Given the description of an element on the screen output the (x, y) to click on. 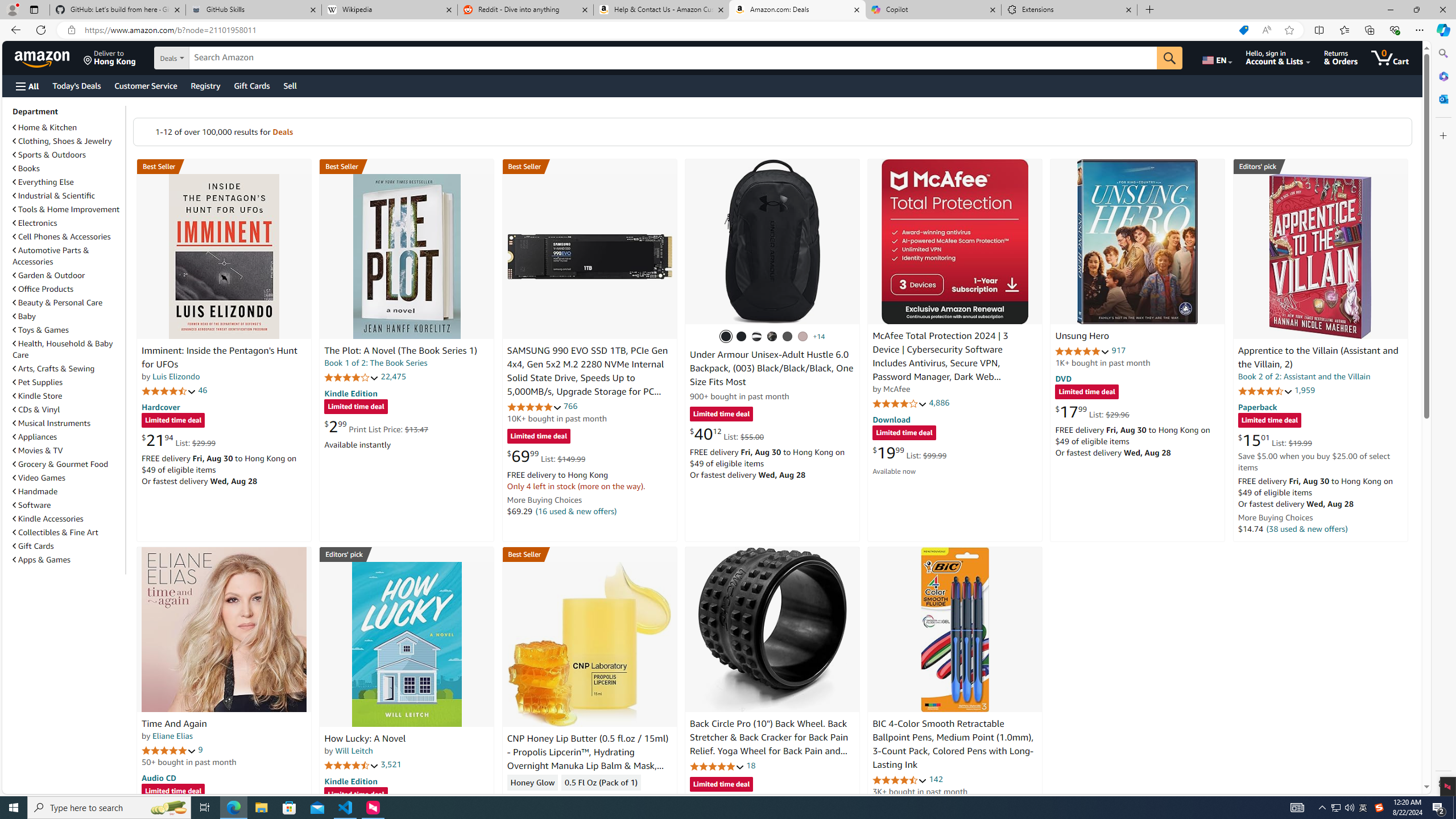
Books (26, 167)
Limited time deal (721, 784)
Kindle Store (67, 395)
Musical Instruments (67, 423)
Office Products (67, 288)
Open Menu (26, 86)
CDs & Vinyl (36, 409)
(001) Black / Black / Metallic Gold (741, 336)
3,521 (390, 764)
9 (200, 749)
Best Seller in Heist Thrillers (406, 165)
Appliances (67, 436)
